Given the description of an element on the screen output the (x, y) to click on. 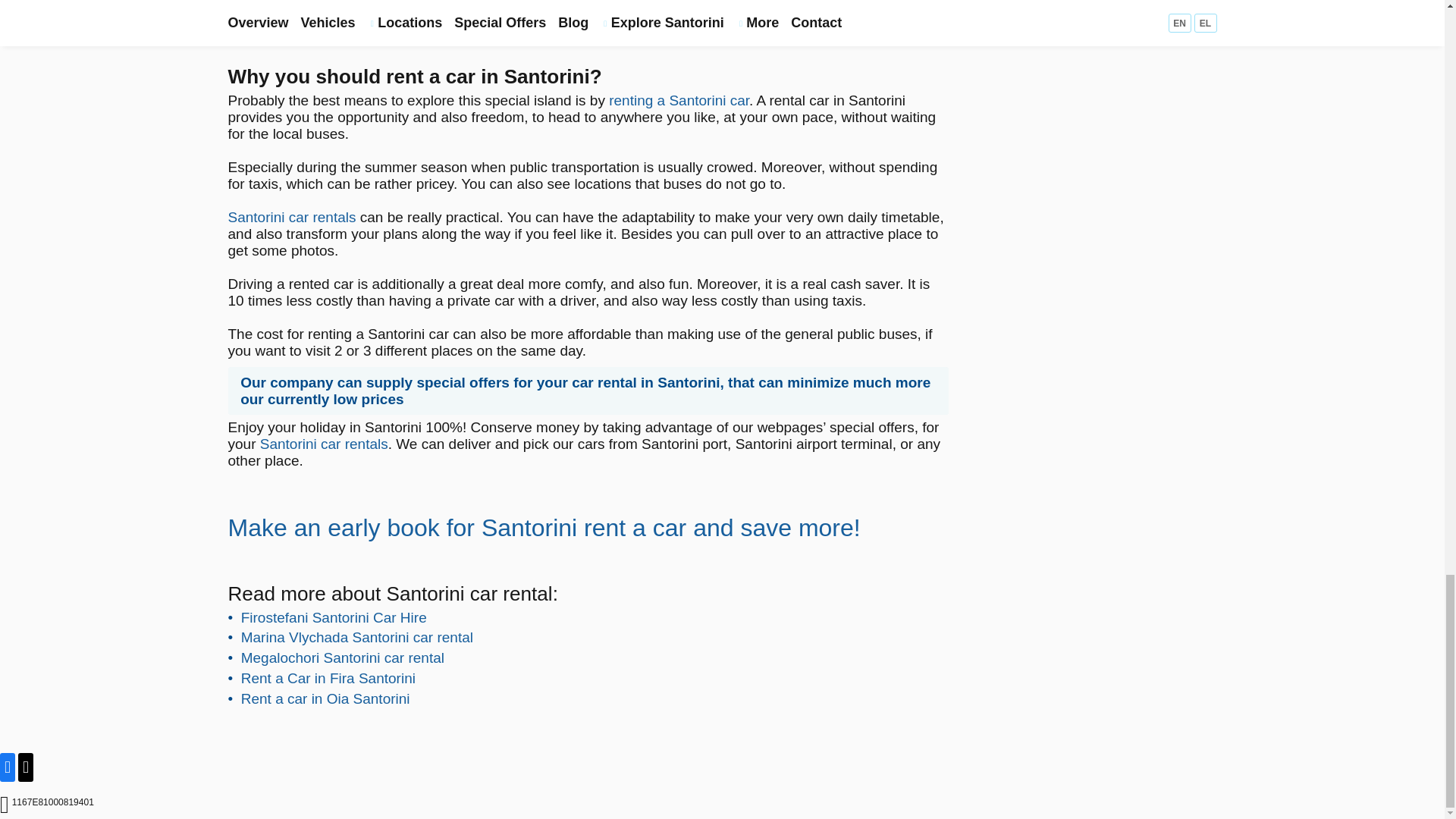
Megalochori Santorini car rental (342, 657)
Santorini car rentals (324, 443)
Firostefani Santorini Car Hire (333, 617)
Rent a car in Oia Santorini (325, 698)
Marina Vlychada Santorini car rental (357, 637)
Rent a Car in Fira Santorini (327, 678)
Santorini car rentals (291, 217)
renting a Santorini car (678, 100)
